Given the description of an element on the screen output the (x, y) to click on. 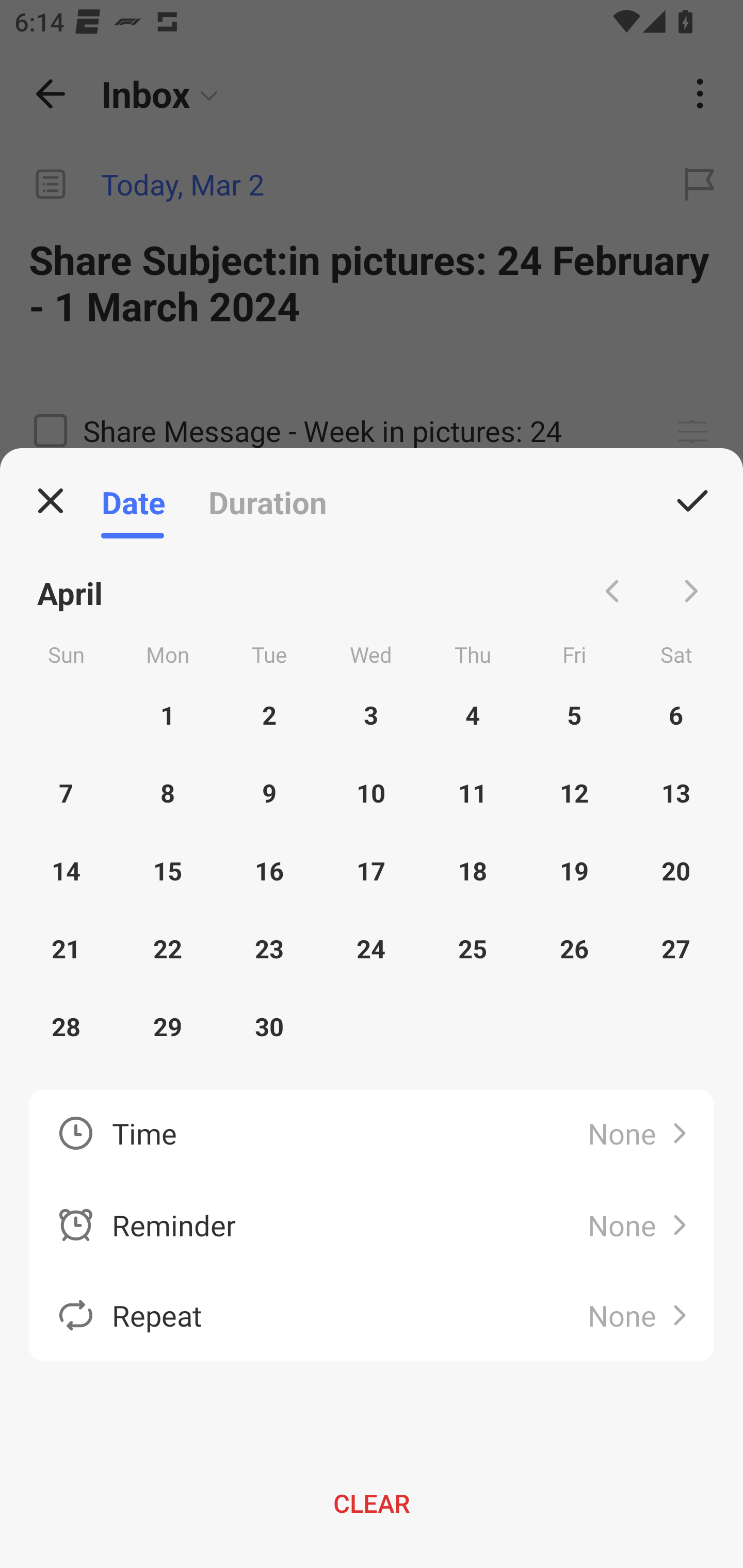
Duration (267, 501)
April (70, 591)
Time None (371, 1134)
Reminder None (371, 1225)
Repeat None (371, 1315)
CLEAR (371, 1502)
